Given the description of an element on the screen output the (x, y) to click on. 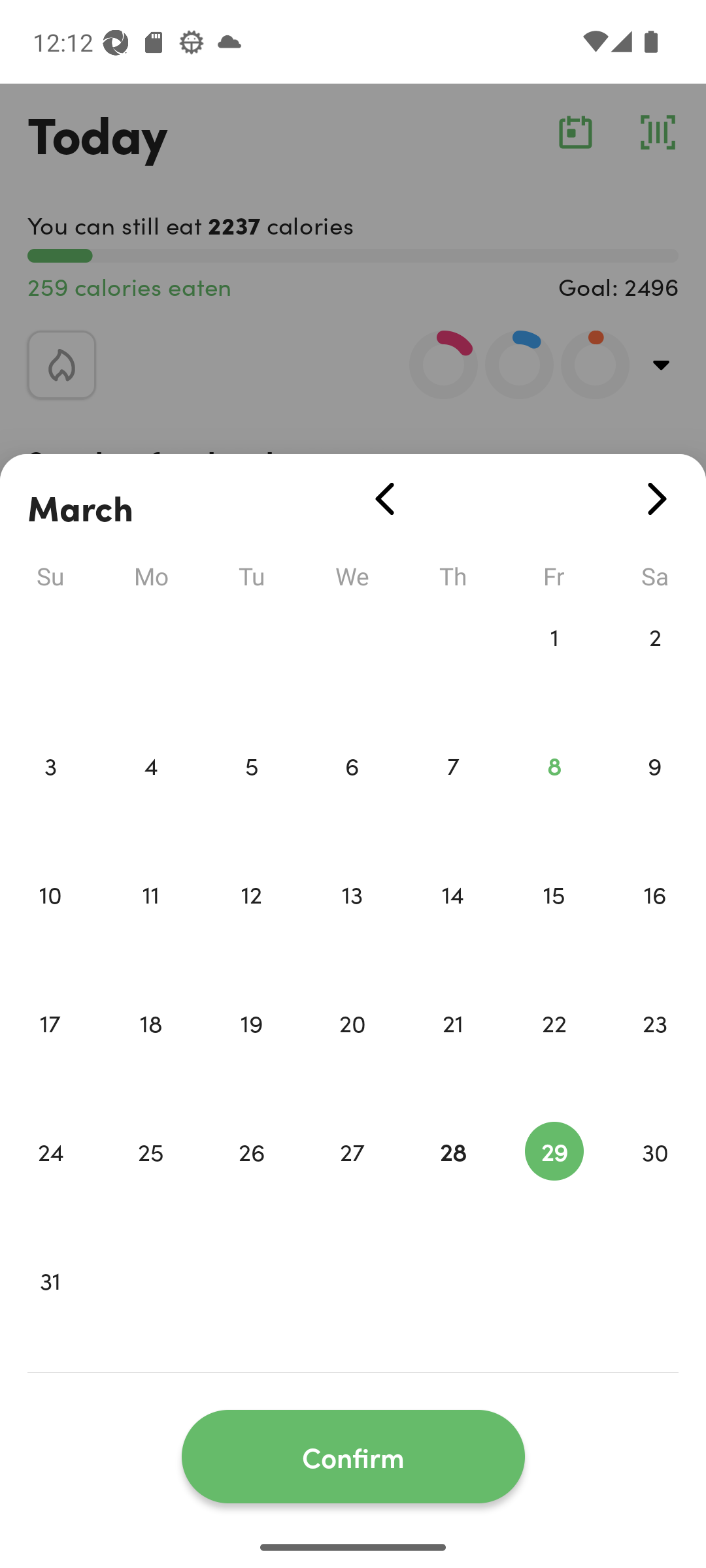
1 (554, 663)
2 (655, 663)
3 (50, 793)
4 (150, 793)
5 (251, 793)
6 (352, 793)
7 (453, 793)
8 (554, 793)
9 (655, 793)
10 (50, 921)
11 (150, 921)
12 (251, 921)
13 (352, 921)
14 (453, 921)
15 (554, 921)
16 (655, 921)
17 (50, 1050)
18 (150, 1050)
19 (251, 1050)
20 (352, 1050)
21 (453, 1050)
22 (554, 1050)
23 (655, 1050)
24 (50, 1178)
25 (150, 1178)
26 (251, 1178)
27 (352, 1178)
28 (453, 1178)
29 (554, 1178)
30 (655, 1178)
31 (50, 1307)
Confirm (353, 1456)
